Given the description of an element on the screen output the (x, y) to click on. 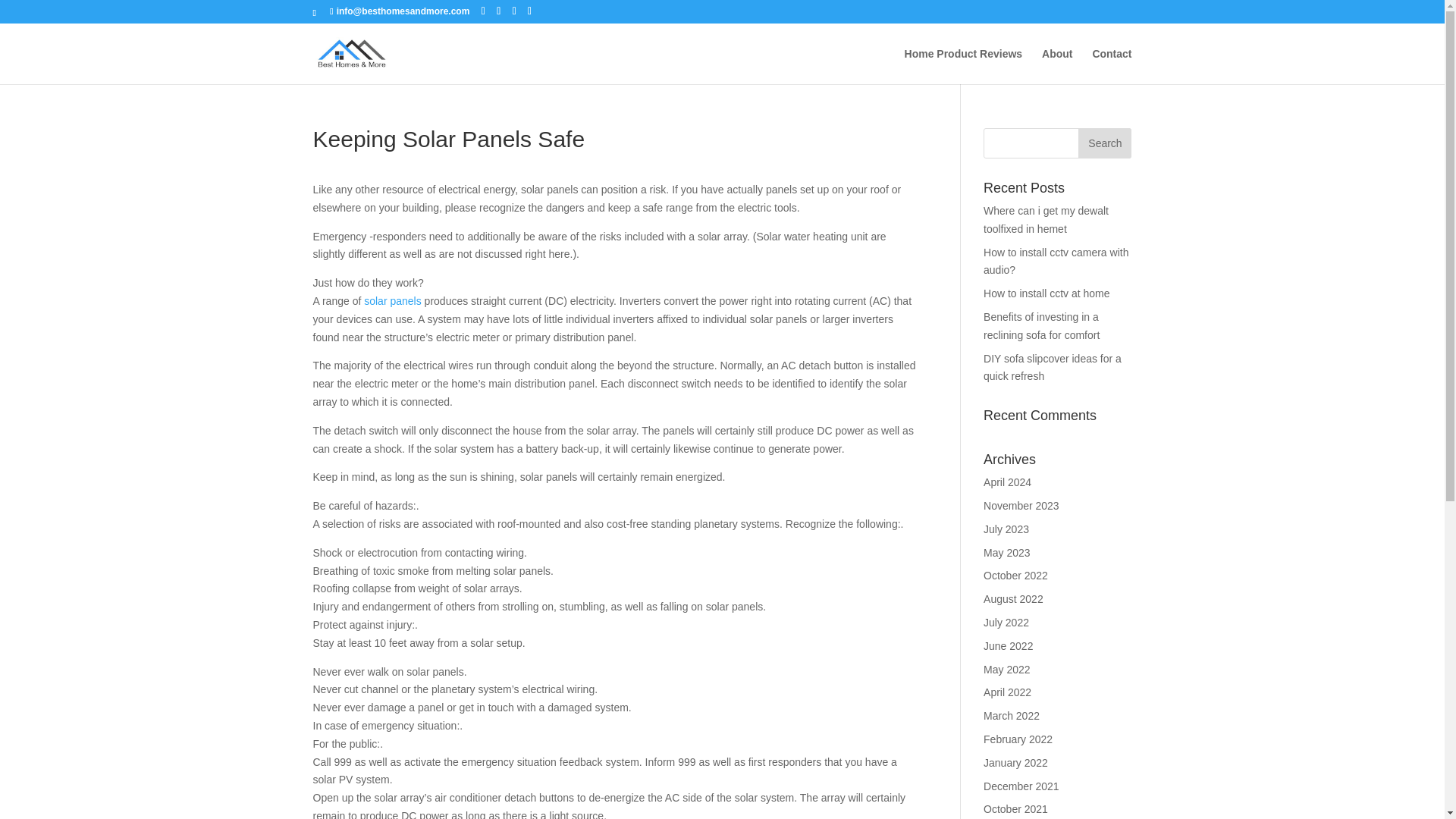
April 2024 (1007, 481)
December 2021 (1021, 786)
January 2022 (1016, 762)
Contact (1111, 66)
Benefits of investing in a reclining sofa for comfort (1041, 326)
February 2022 (1018, 739)
June 2022 (1008, 645)
October 2021 (1016, 808)
July 2023 (1006, 529)
November 2023 (1021, 505)
March 2022 (1011, 715)
May 2022 (1006, 669)
July 2022 (1006, 622)
Search (1104, 142)
August 2022 (1013, 598)
